Given the description of an element on the screen output the (x, y) to click on. 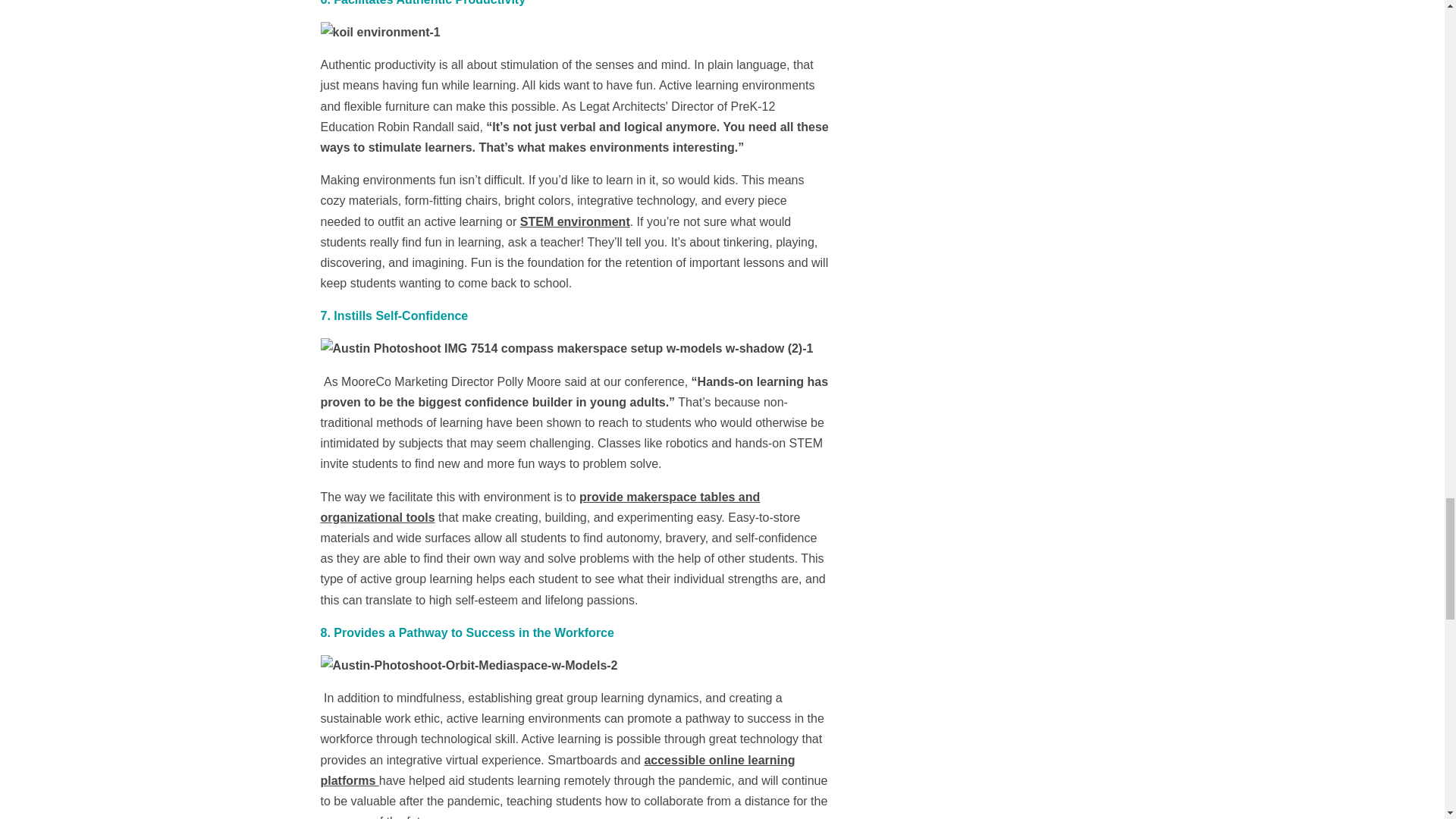
accessible online learning platforms (557, 770)
provide makerspace tables and organizational tools (540, 507)
STEM environment (574, 221)
